Given the description of an element on the screen output the (x, y) to click on. 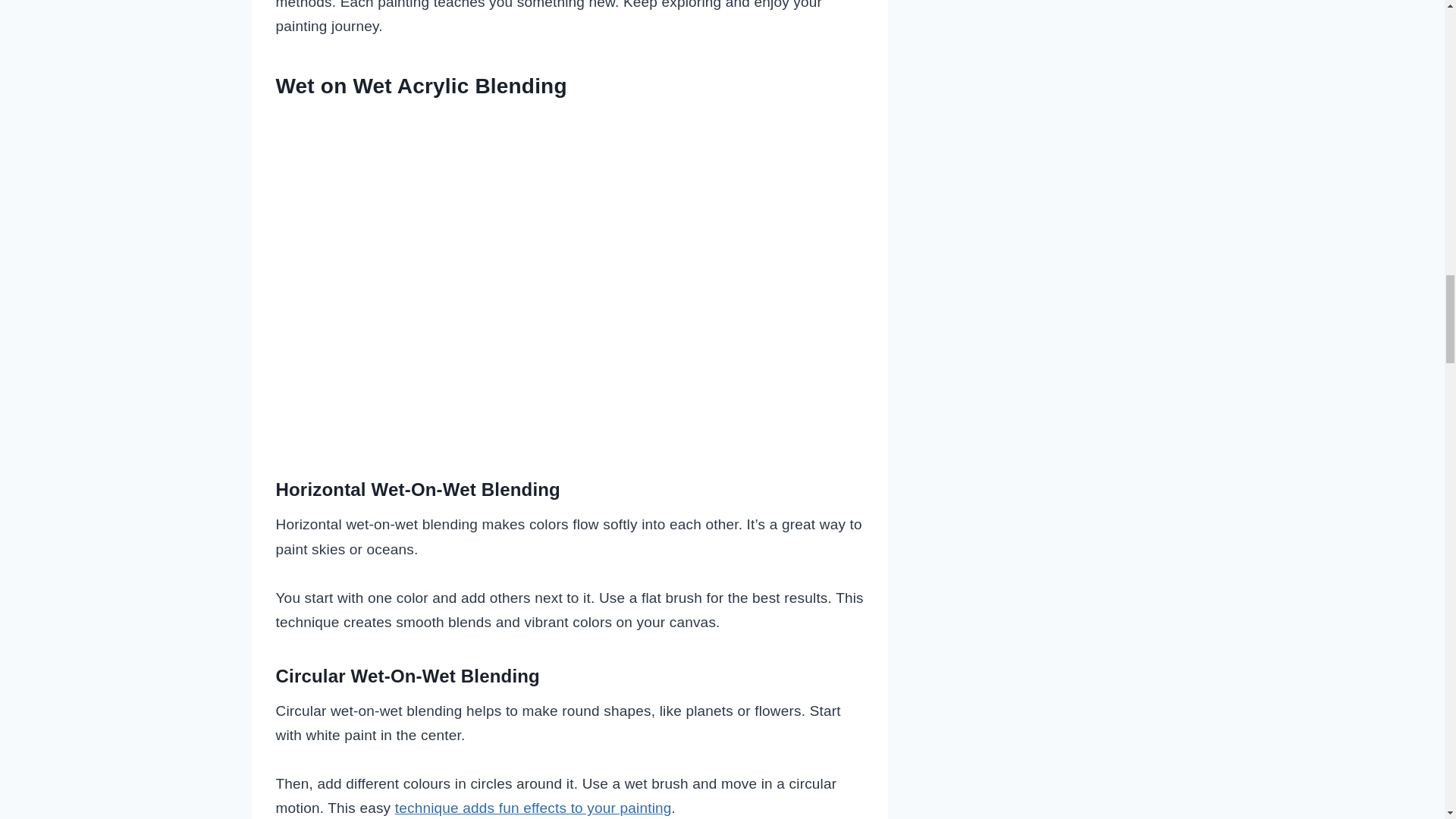
technique adds fun effects to your painting (532, 807)
